Given the description of an element on the screen output the (x, y) to click on. 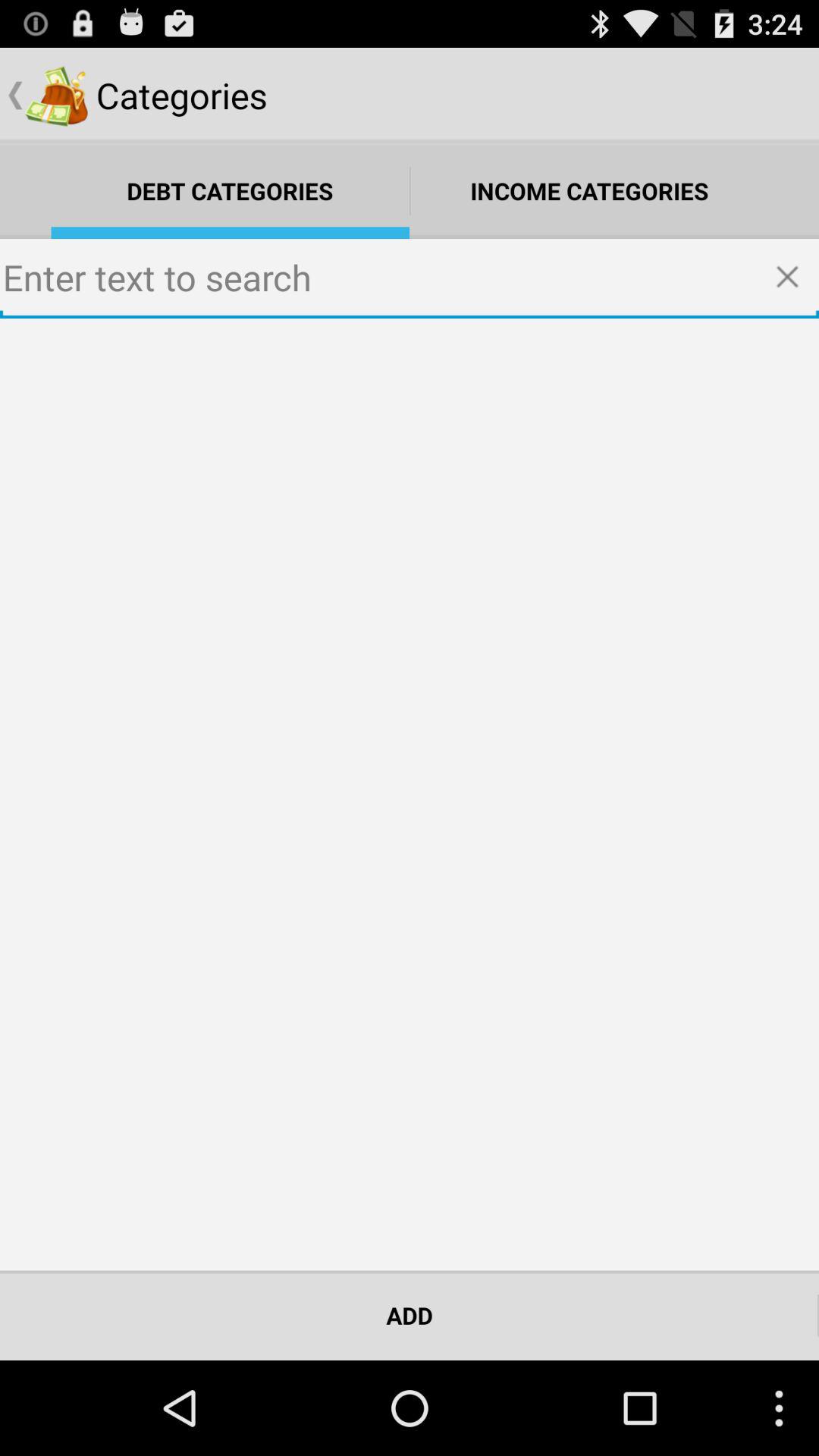
launch add at the bottom (409, 1315)
